Given the description of an element on the screen output the (x, y) to click on. 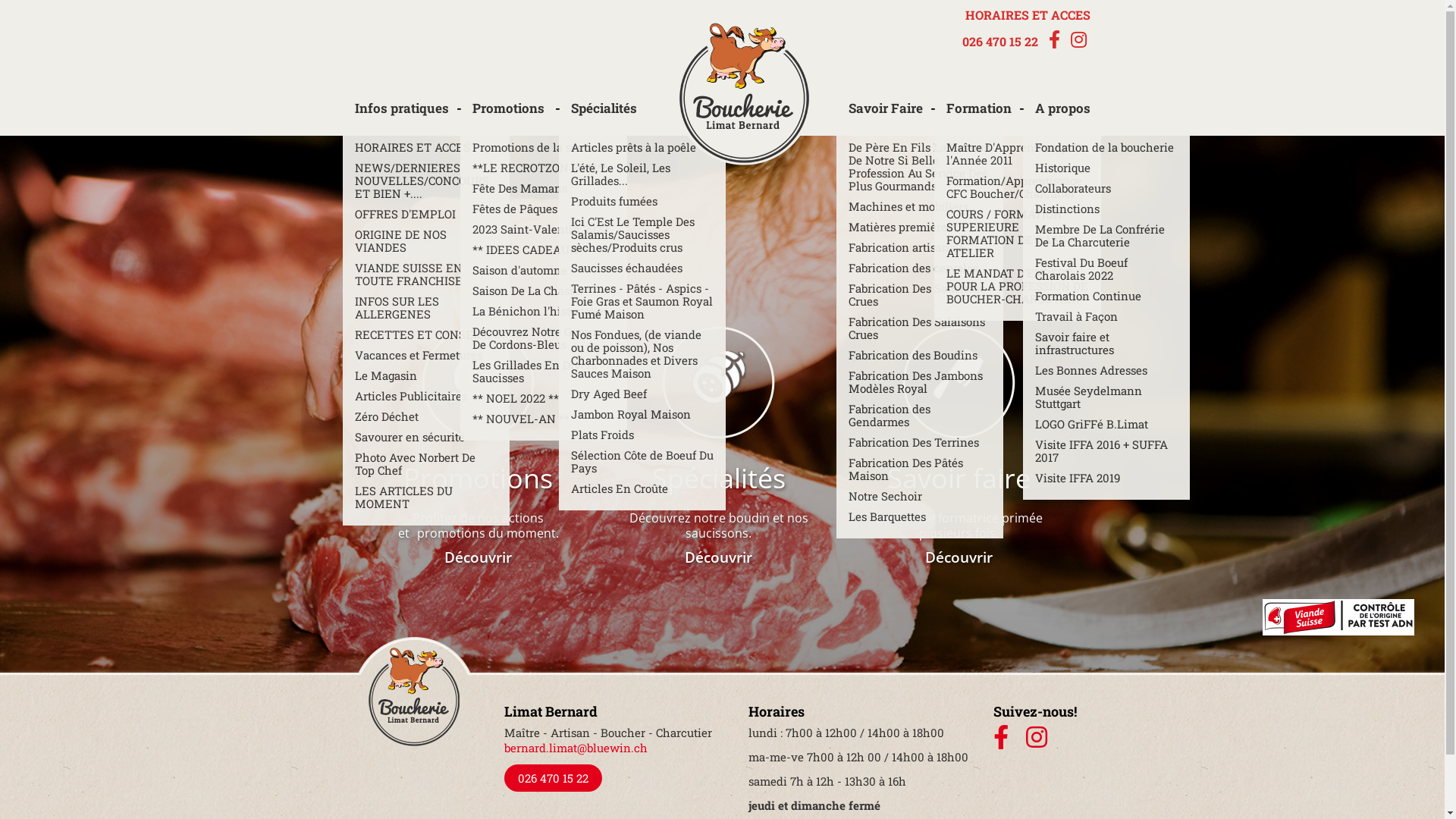
bernard.limat@bluewin.ch Element type: text (574, 747)
** NOUVEL-AN ** Element type: text (542, 418)
** NOEL 2022 ** Element type: text (542, 398)
Collaborateurs Element type: text (1105, 188)
Fabrication Des Terrines Element type: text (918, 442)
Le Magasin Element type: text (425, 375)
NEWS/DERNIERES NOUVELLES/CONCOURS ET BIEN +.... Element type: text (425, 180)
Les Barquettes Element type: text (918, 516)
Infos pratiques Element type: text (407, 114)
Plats Froids Element type: text (641, 434)
Notre Sechoir Element type: text (918, 496)
COURS / FORMATION SUPERIEURE FORMATION DE BASE / ATELIER Element type: text (1017, 233)
boucherie-limat.ch Element type: text (743, 94)
Fabrication artisanale Element type: text (918, 247)
Articles Publicitaires Element type: text (425, 395)
ORIGINE DE NOS VIANDES Element type: text (425, 240)
INFOS SUR LES ALLERGENES Element type: text (425, 307)
Les Bonnes Adresses Element type: text (1105, 370)
Vacances et Fermetures Element type: text (425, 355)
Saison d'automne Element type: text (542, 270)
Formation Continue Element type: text (1105, 295)
**LE RECROTZON 2023** Element type: text (542, 167)
A propos Element type: text (1062, 114)
Jambon Royal Maison Element type: text (641, 414)
026 470 15 22 Element type: text (999, 41)
Saison De La Chasse Element type: text (542, 290)
Distinctions Element type: text (1105, 208)
Fabrication Des Salaisons Crues Element type: text (918, 328)
Fabrication des cervelas Element type: text (918, 267)
VIANDE SUISSE EN TOUTE FRANCHISE Element type: text (425, 274)
Formation/Apprentissage CFC Boucher/Charcutier Element type: text (1017, 186)
026 470 15 22 Element type: text (552, 777)
RECETTES ET CONSEILS Element type: text (425, 334)
Historique Element type: text (1105, 167)
HORAIRES ET ACCES Element type: text (1027, 15)
Machines et mobiliers Element type: text (918, 206)
Promotions de la semaine Element type: text (542, 147)
Les Grillades En Divers Saucisses Element type: text (542, 371)
Visite IFFA 2019 Element type: text (1105, 477)
Promotions Element type: text (516, 114)
OFFRES D'EMPLOI Element type: text (425, 213)
boucherie-limat.ch Element type: text (413, 692)
Festival Du Boeuf Charolais 2022 Element type: text (1105, 268)
Visite IFFA 2016 + SUFFA 2017 Element type: text (1105, 450)
Photo Avec Norbert De Top Chef Element type: text (425, 463)
Savoir faire et infrastructures Element type: text (1105, 343)
Formation Element type: text (984, 114)
Fondation de la boucherie Element type: text (1105, 147)
LES ARTICLES DU MOMENT Element type: text (425, 497)
Fabrication des Gendarmes Element type: text (918, 415)
Fabrication Des Saucisses Crues Element type: text (918, 294)
Fabrication des Boudins Element type: text (918, 355)
** IDEES CADEAUX ** Element type: text (542, 249)
2023 Saint-Valentin 2023 Element type: text (542, 229)
LE MANDAT D'EXPERT POUR LA PROFESSION DE BOUCHER-CHARCUTIER Element type: text (1017, 286)
Savoir Faire Element type: text (891, 114)
Dry Aged Beef Element type: text (641, 393)
HORAIRES ET ACCES Element type: text (425, 147)
